Given the description of an element on the screen output the (x, y) to click on. 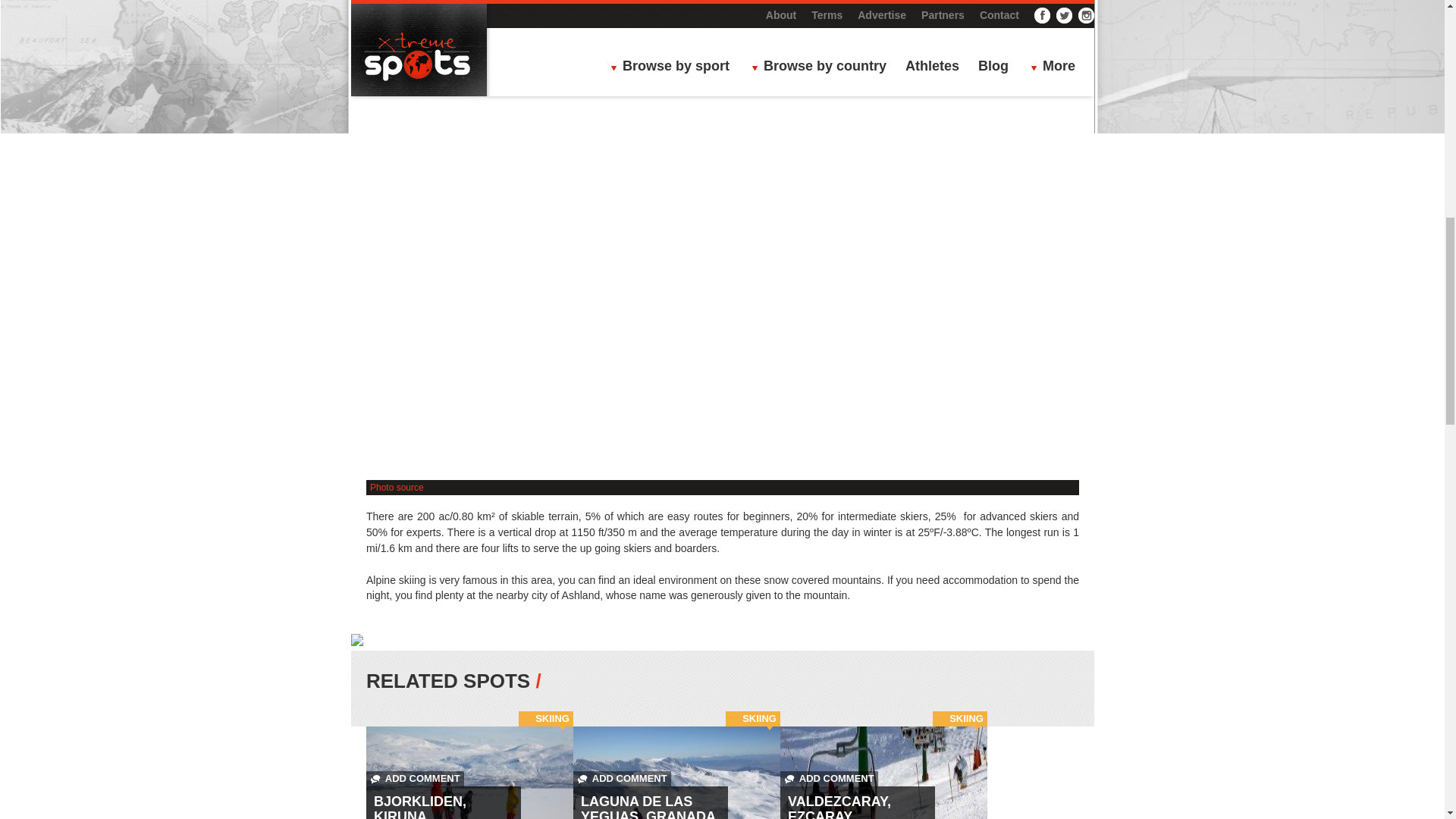
SKIING (552, 717)
Photo source (396, 487)
BJORKLIDEN, KIRUNA (419, 806)
  ADD COMMENT (415, 778)
